Given the description of an element on the screen output the (x, y) to click on. 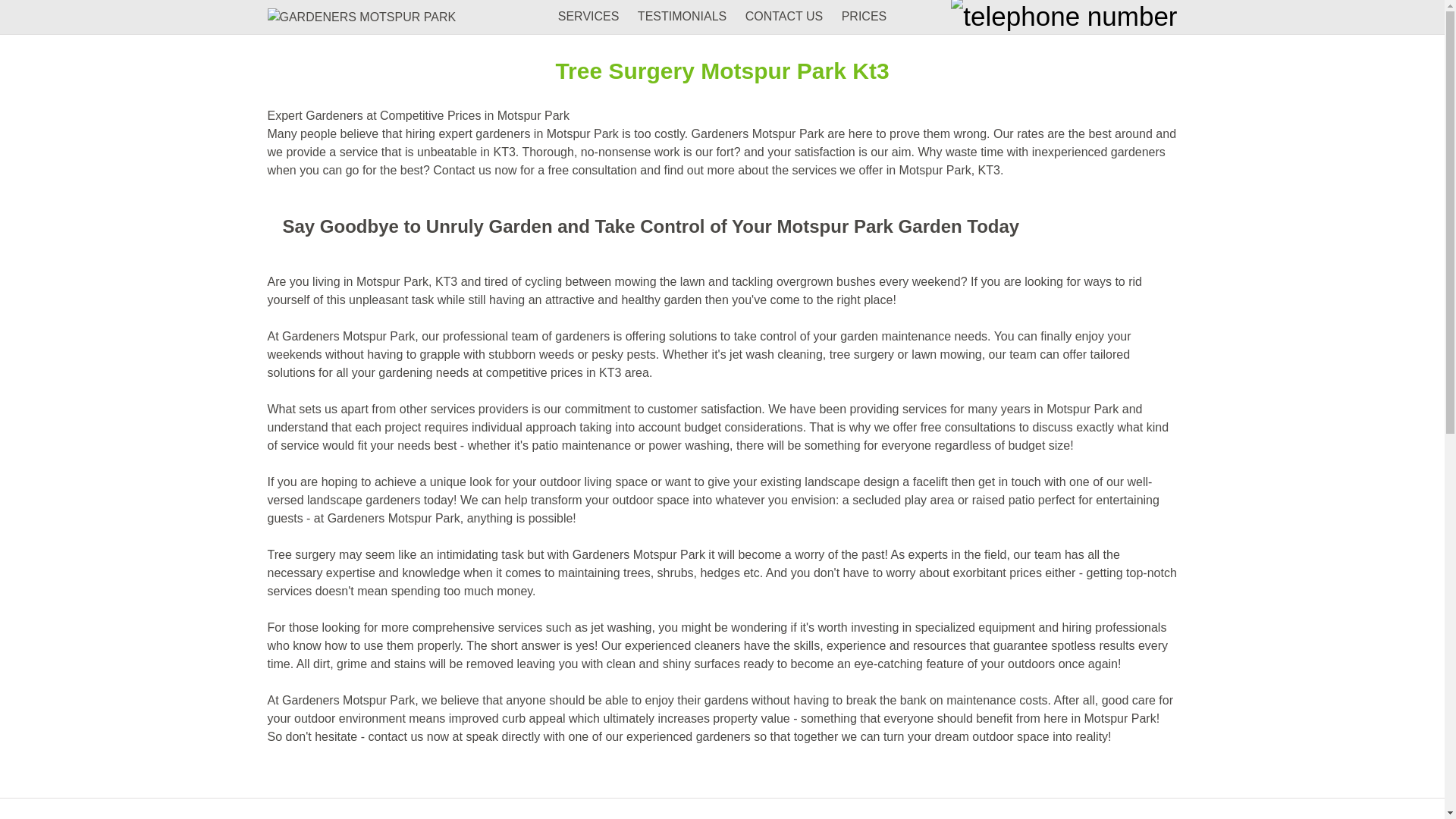
PRICES (863, 15)
TESTIMONIALS (681, 15)
SERVICES (588, 15)
CONTACT US (784, 15)
